Given the description of an element on the screen output the (x, y) to click on. 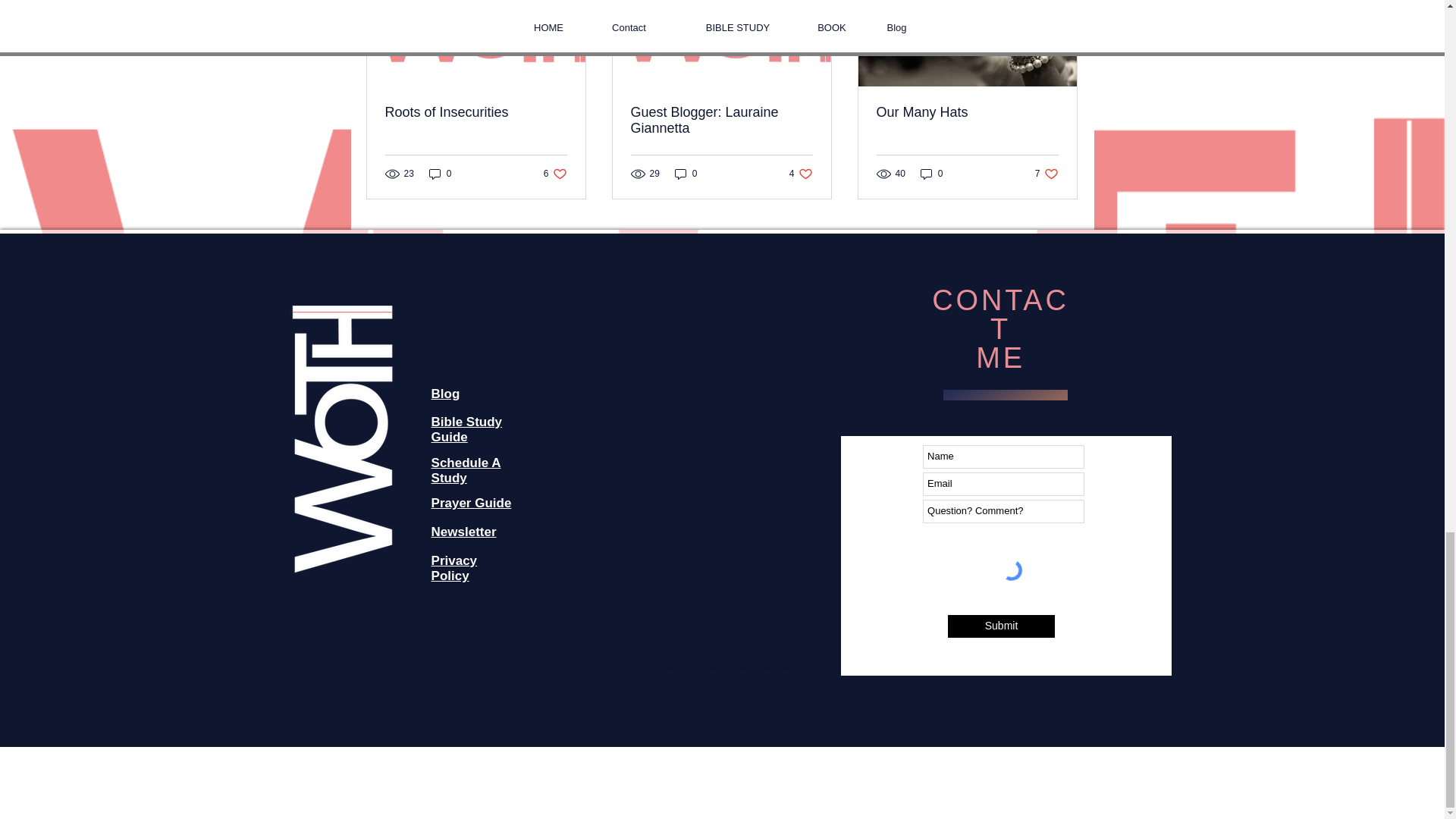
Schedule A Study (555, 173)
Our Many Hats (465, 470)
Roots of Insecurities (967, 112)
0 (800, 173)
Newsletter (1046, 173)
0 (476, 112)
Privacy Policy (440, 173)
0 (463, 531)
Blog (931, 173)
Bible Study Guide (453, 568)
Submit (685, 173)
Prayer Guide (445, 393)
